Given the description of an element on the screen output the (x, y) to click on. 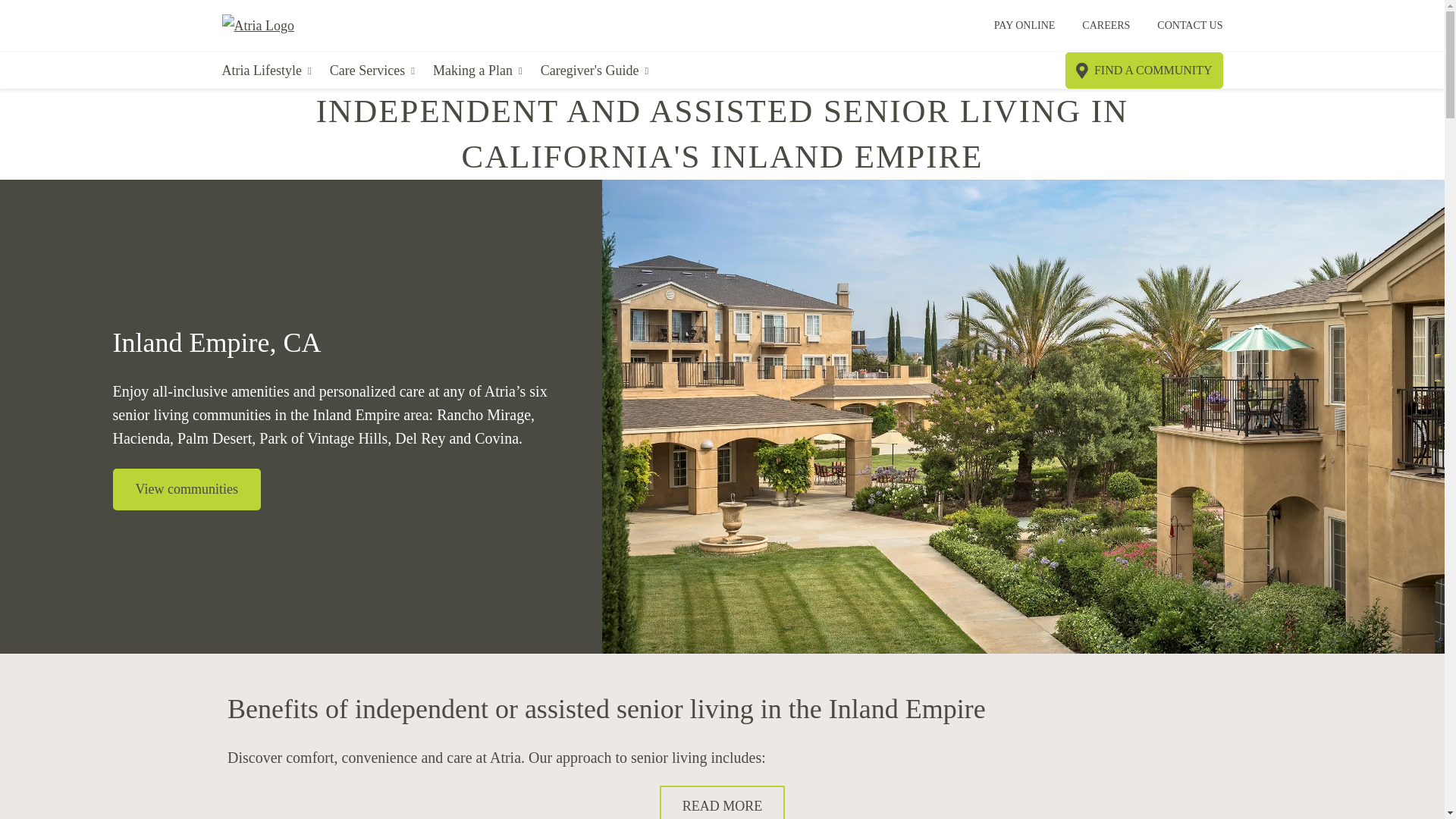
Care Services (372, 71)
FIND A COMMUNITY (1144, 70)
Atria Lifestyle (266, 71)
Caregiver's Guide (593, 71)
CONTACT US (1190, 26)
CAREERS (1105, 26)
PAY ONLINE (1024, 26)
Making a Plan (477, 71)
